Given the description of an element on the screen output the (x, y) to click on. 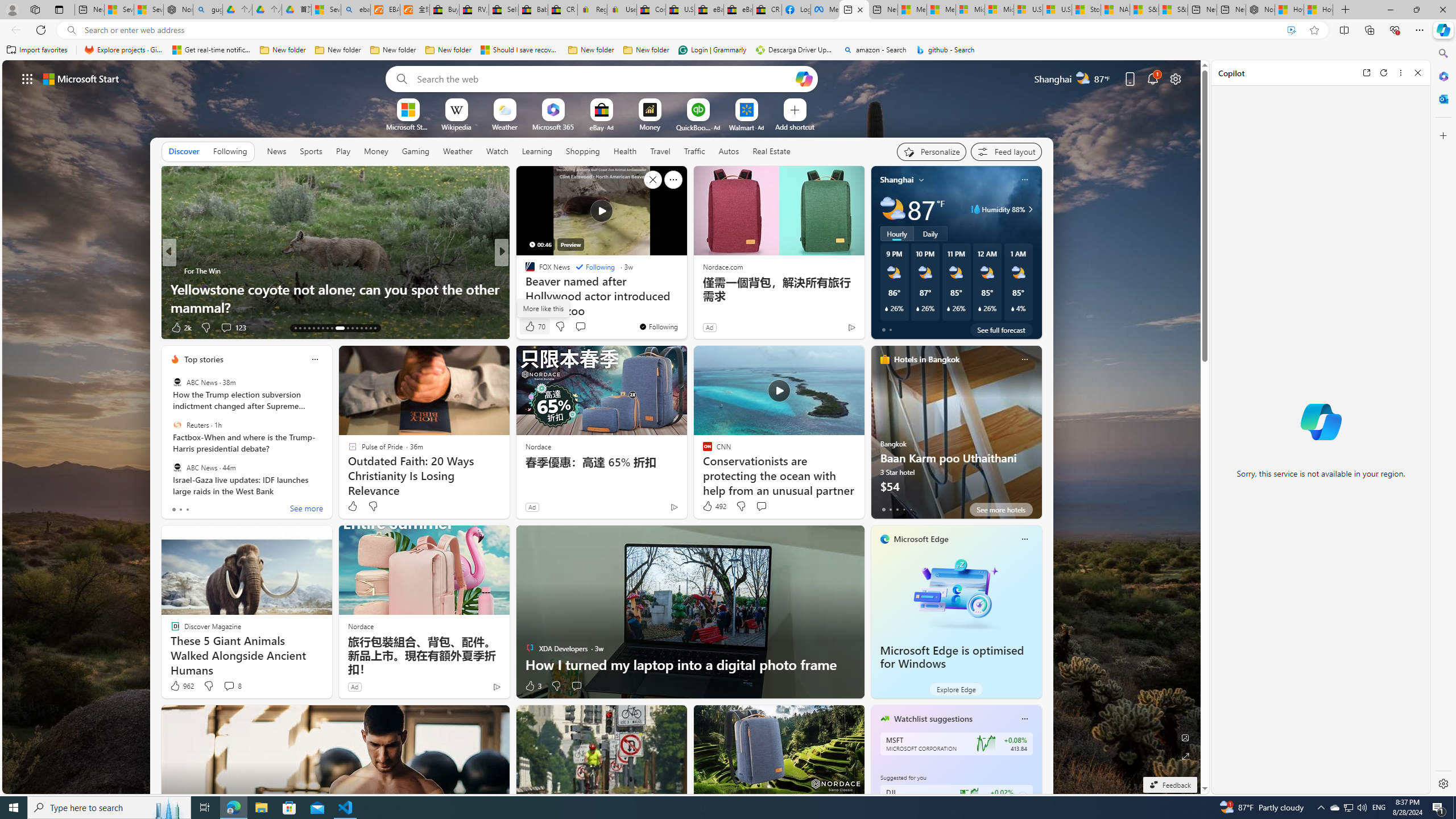
Consumer Health Data Privacy Policy - eBay Inc. (651, 9)
View comments 6 Comment (576, 327)
To get missing image descriptions, open the context menu. (407, 109)
Shopping (582, 151)
Shopping (583, 151)
Microsoft Edge is optimised for Windows (955, 592)
BRAINY DOSE (524, 270)
AutomationID: backgroundImagePicture (601, 426)
Class: weather-arrow-glyph (1029, 208)
